Given the description of an element on the screen output the (x, y) to click on. 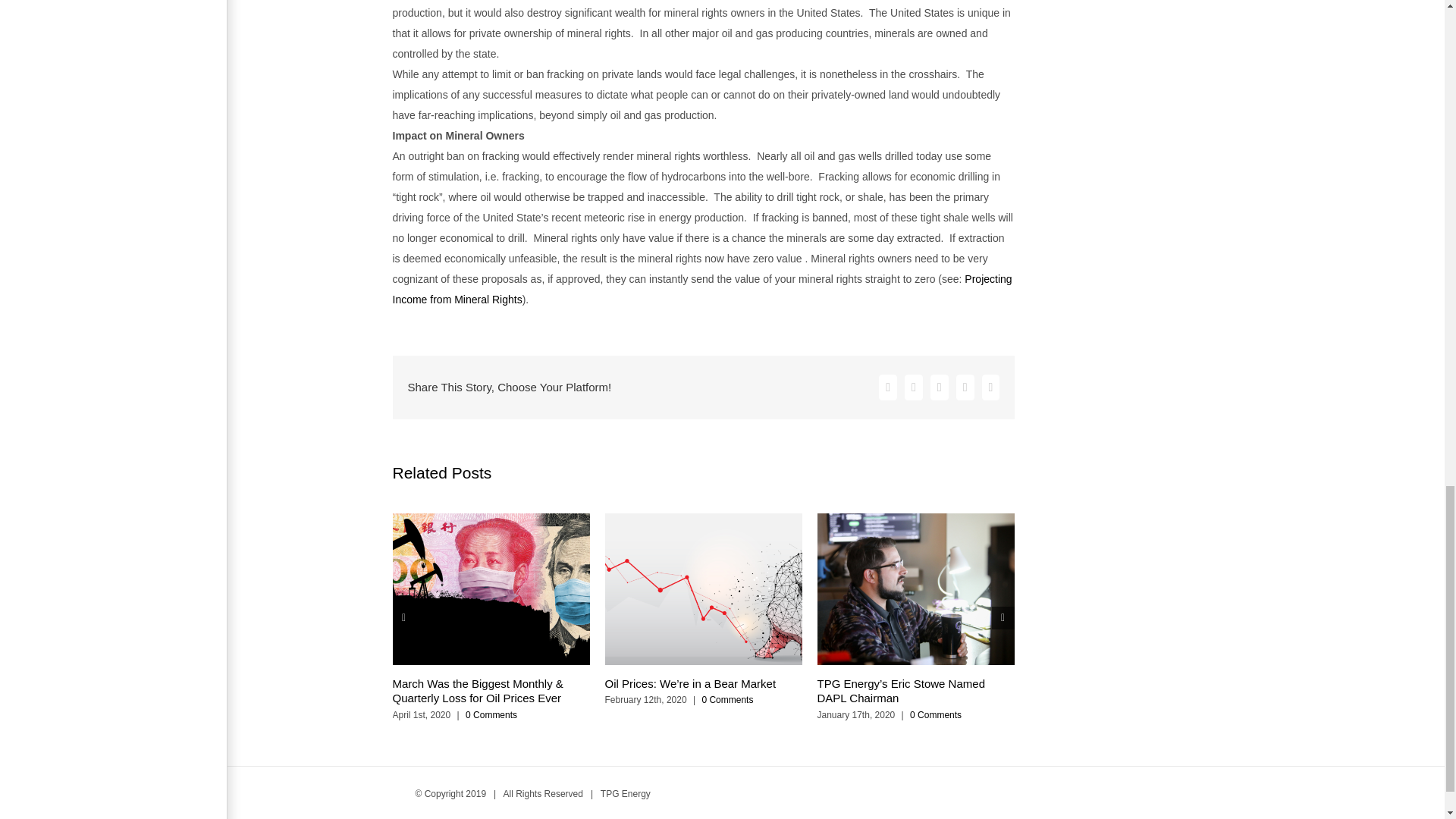
0 Comments (490, 715)
Projecting Income from Mineral Rights (702, 288)
0 Comments (726, 699)
